Given the description of an element on the screen output the (x, y) to click on. 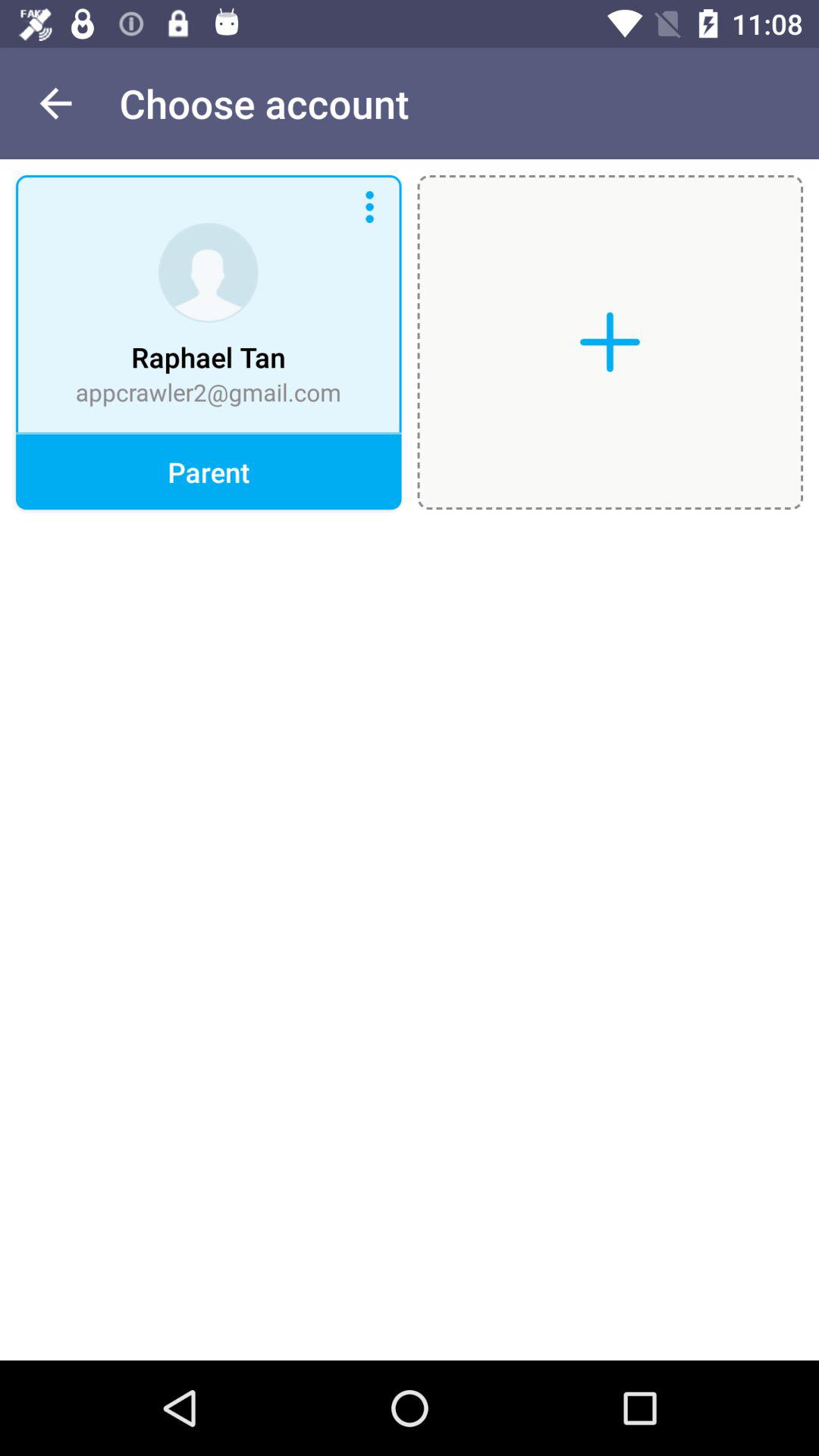
launch the item to the left of choose account (55, 103)
